Given the description of an element on the screen output the (x, y) to click on. 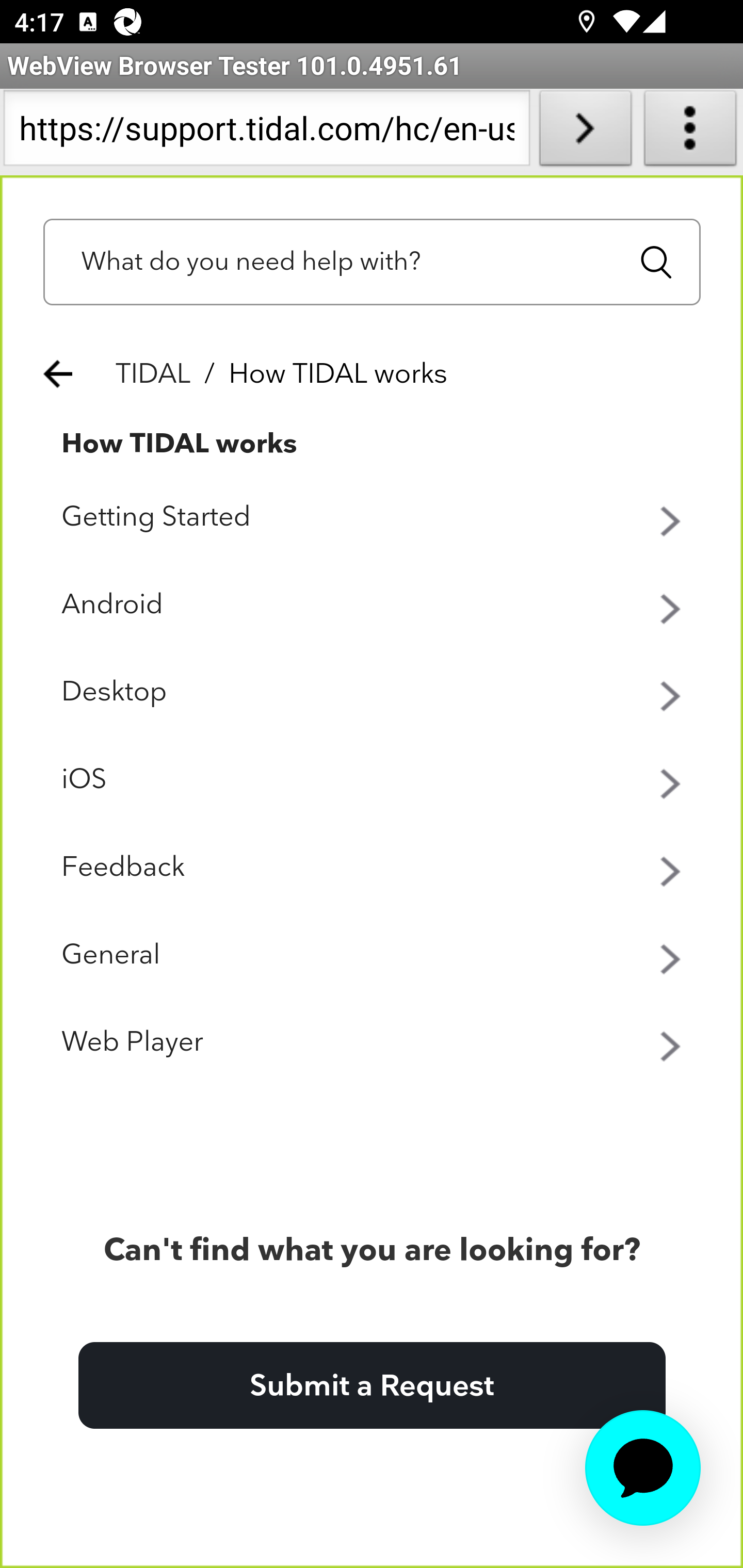
Load URL (585, 132)
About WebView (690, 132)
TIDAL (153, 374)
How TIDAL works (179, 444)
Getting Started (372, 517)
Android (372, 605)
Desktop (372, 692)
iOS (372, 779)
Feedback (372, 868)
General (372, 956)
Web Player (372, 1043)
Submit a Request (371, 1386)
